Given the description of an element on the screen output the (x, y) to click on. 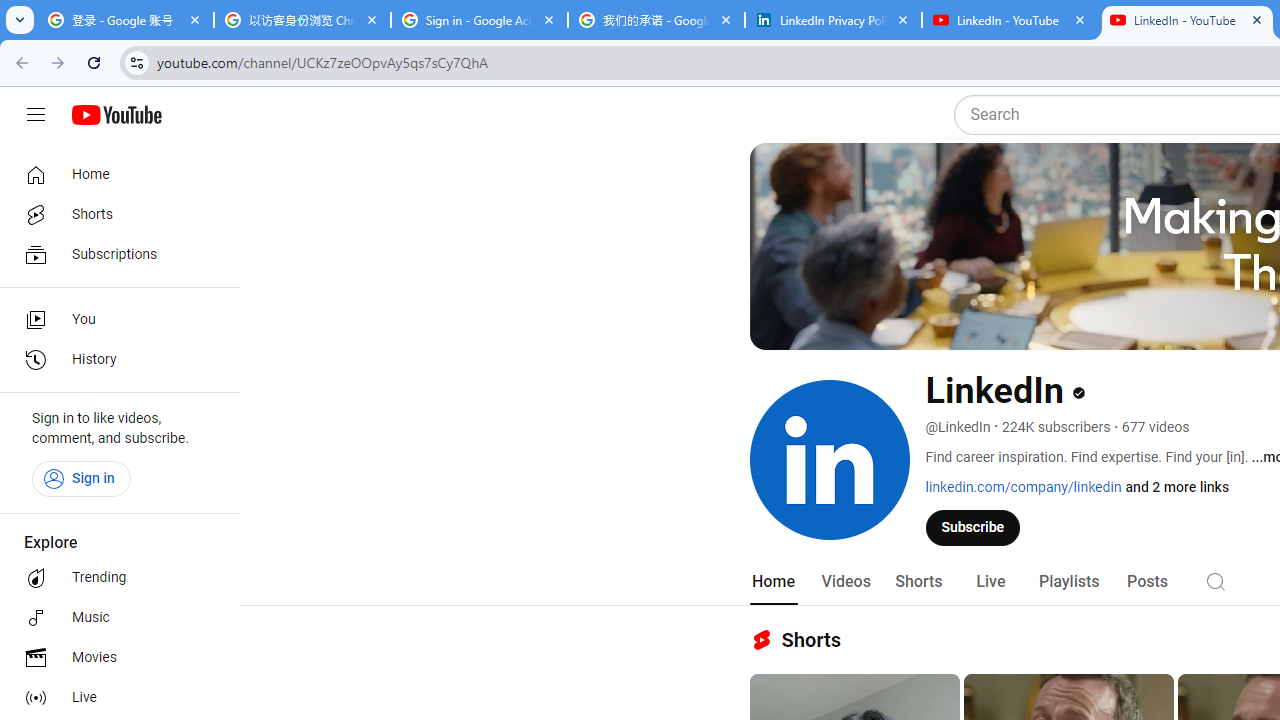
Trending (113, 578)
linkedin.com/company/linkedin (1023, 487)
Live (990, 581)
LinkedIn Privacy Policy (833, 20)
Sign in - Google Accounts (479, 20)
Playlists (1068, 581)
Live (113, 697)
Videos (845, 581)
Subscribe (973, 527)
